Given the description of an element on the screen output the (x, y) to click on. 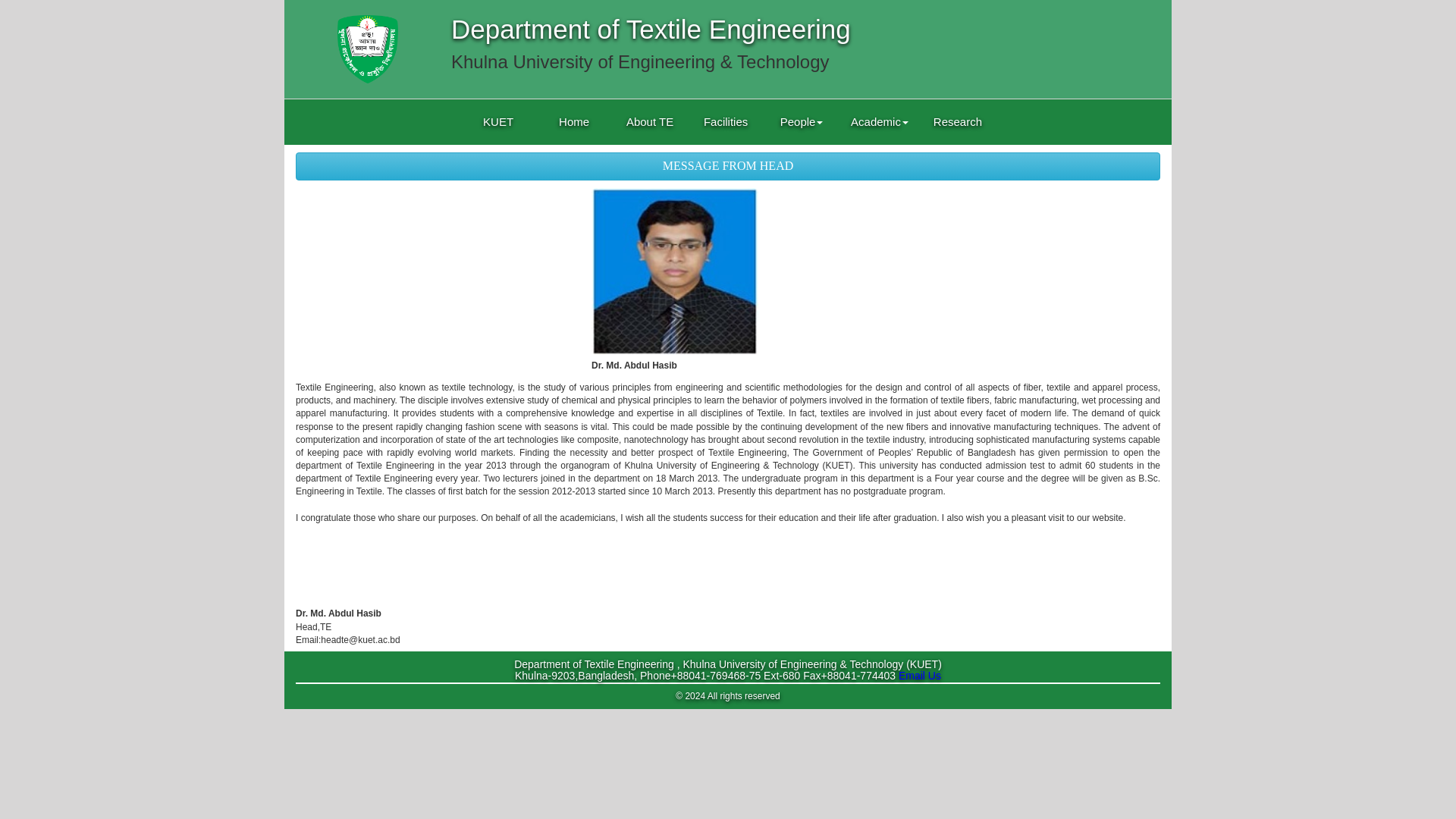
Research (957, 125)
Academic (880, 136)
About TE (649, 156)
KUET (497, 161)
Facilities (724, 152)
Home (573, 158)
People (801, 147)
Email Us (919, 675)
